Given the description of an element on the screen output the (x, y) to click on. 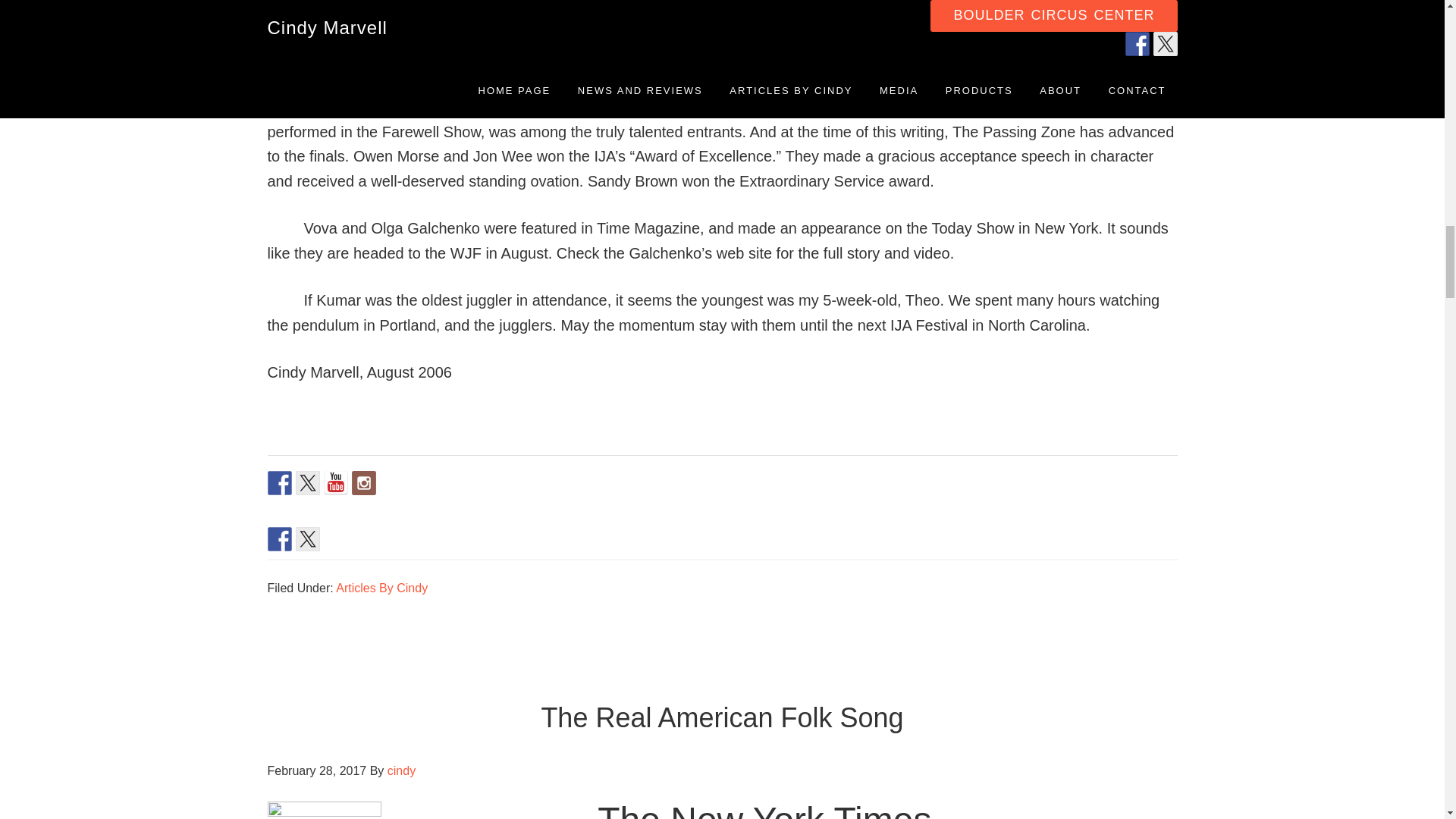
Follow Us (278, 482)
Share (278, 539)
Find us on YouTube (335, 482)
Follow (307, 482)
Check out our instagram feed (363, 482)
